Given the description of an element on the screen output the (x, y) to click on. 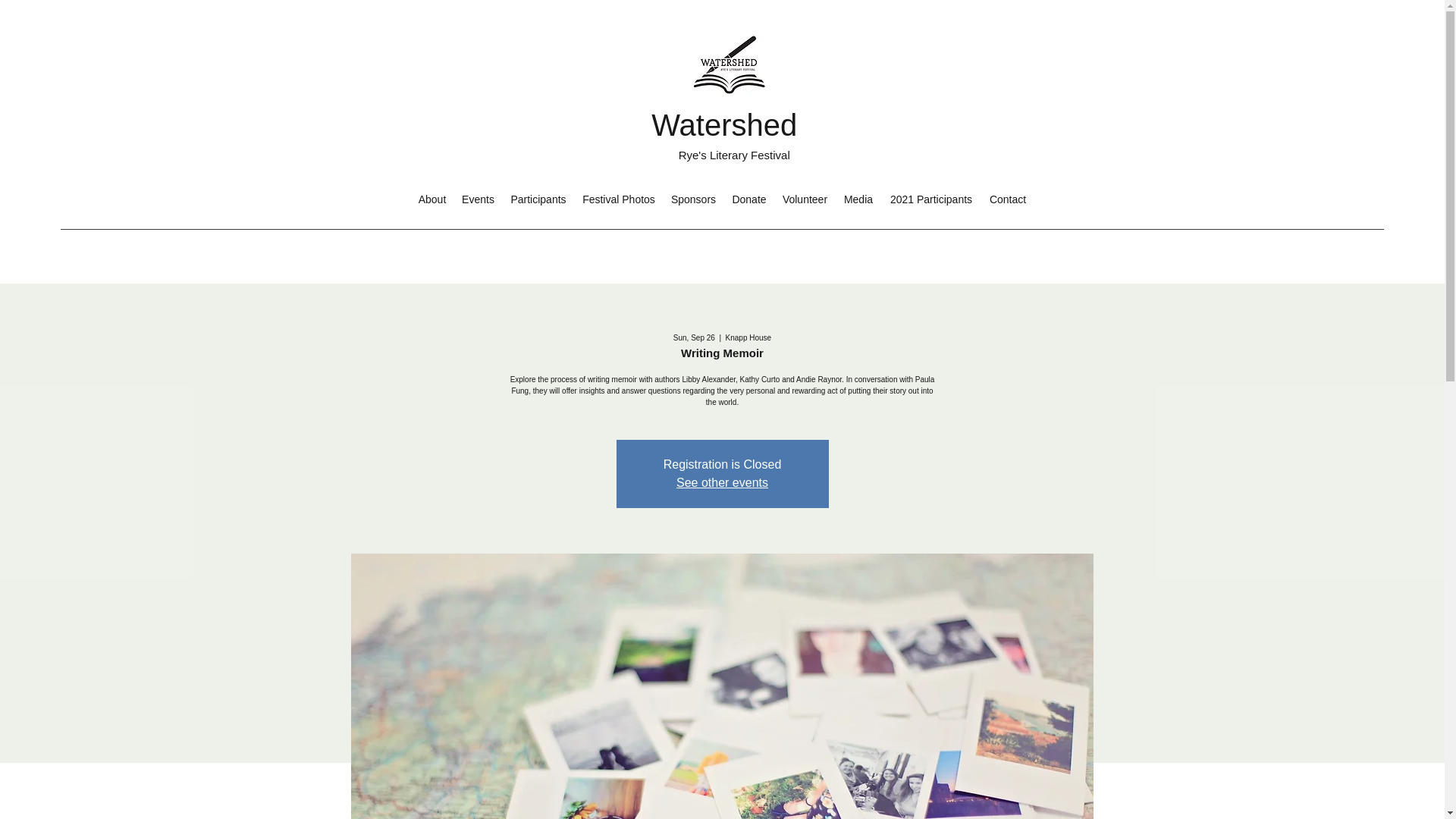
About (432, 199)
Volunteer (804, 199)
Donate (748, 199)
Media (857, 199)
Participants (538, 199)
Festival Photos (618, 199)
Contact (1007, 199)
Sponsors (692, 199)
Watershed (723, 124)
See other events (722, 481)
2021 Participants (930, 199)
Events (478, 199)
